Given the description of an element on the screen output the (x, y) to click on. 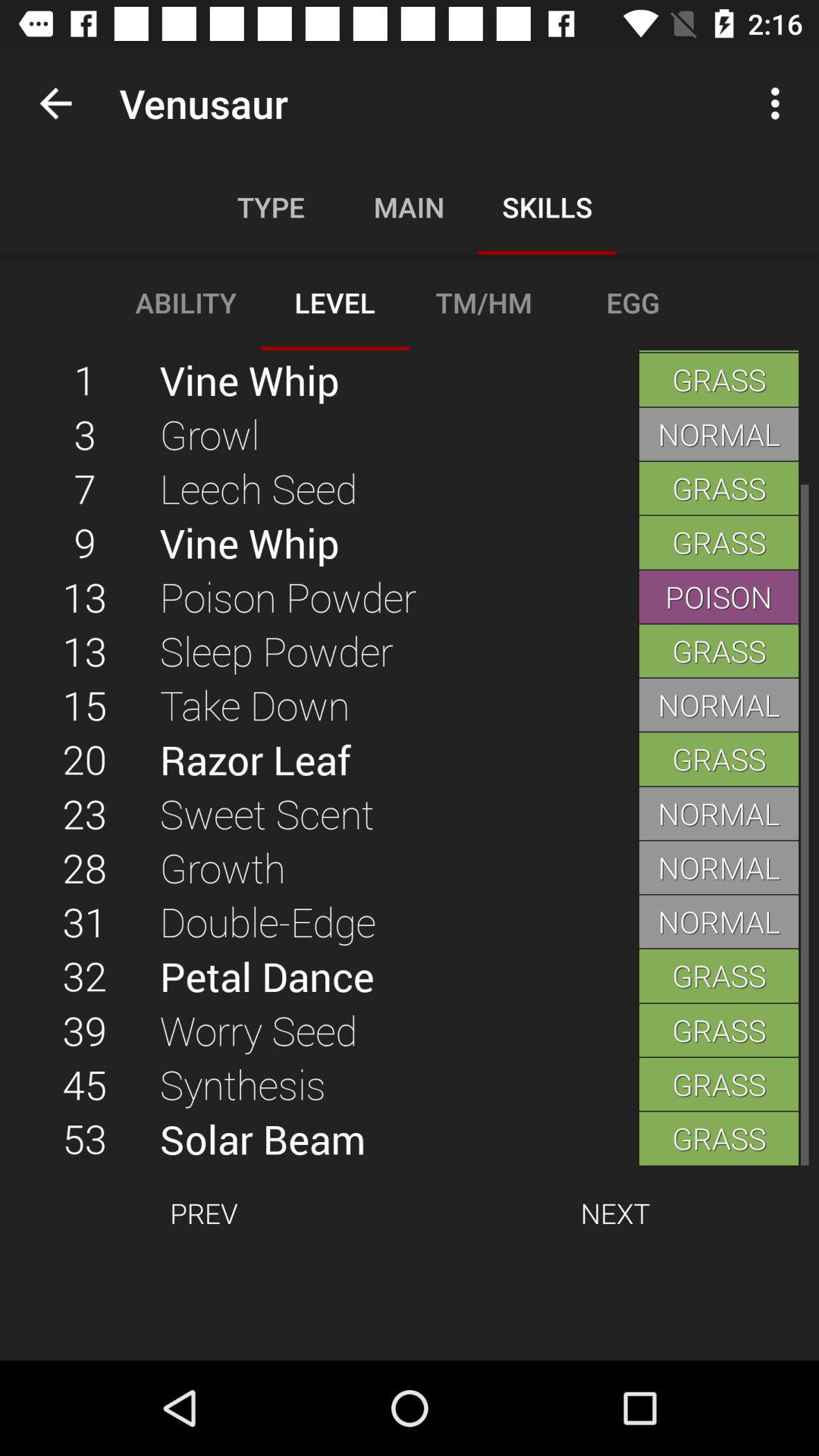
turn off icon below the 31 icon (84, 975)
